Given the description of an element on the screen output the (x, y) to click on. 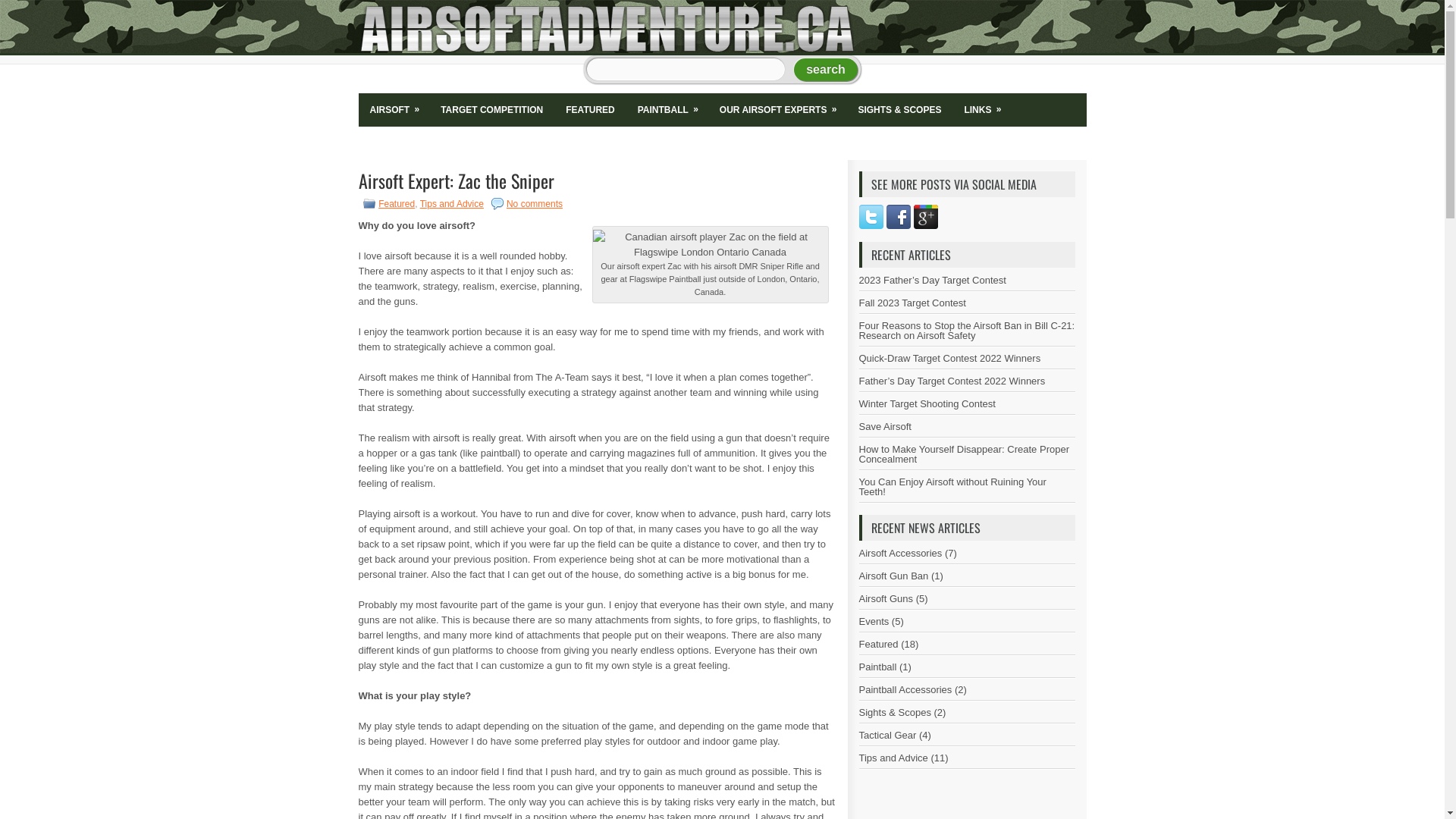
Sights & Scopes Element type: text (894, 712)
Quick-Draw Target Contest 2022 Winners Element type: text (949, 358)
Tactical Gear Element type: text (887, 734)
FEATURED Element type: text (589, 109)
Facebook Element type: hover (897, 216)
Fall 2023 Target Contest Element type: text (911, 302)
Google Plus Element type: hover (925, 216)
How to Make Yourself Disappear: Create Proper Concealment Element type: text (963, 453)
Tips and Advice Element type: text (451, 203)
No comments Element type: text (534, 203)
Winter Target Shooting Contest Element type: text (926, 403)
You Can Enjoy Airsoft without Ruining Your Teeth! Element type: text (951, 486)
Tips and Advice Element type: text (892, 757)
Canadian Airsoft BB Gun Articles, Information & Advice Element type: hover (606, 28)
Events Element type: text (873, 621)
SIGHTS & SCOPES Element type: text (899, 109)
Save Airsoft Element type: text (884, 426)
TARGET COMPETITION Element type: text (491, 109)
search Element type: text (825, 69)
Paintball Accessories Element type: text (904, 689)
Twitter Element type: hover (870, 216)
Featured Element type: text (396, 203)
Airsoft Gun Ban Element type: text (893, 575)
Airsoft Guns Element type: text (885, 598)
TOP GUN COMPETITION Element type: text (524, 143)
Airsoft Accessories Element type: text (899, 552)
Featured Element type: text (877, 643)
TIPS AND ADVICE Element type: text (408, 143)
Paintball Element type: text (877, 666)
